Given the description of an element on the screen output the (x, y) to click on. 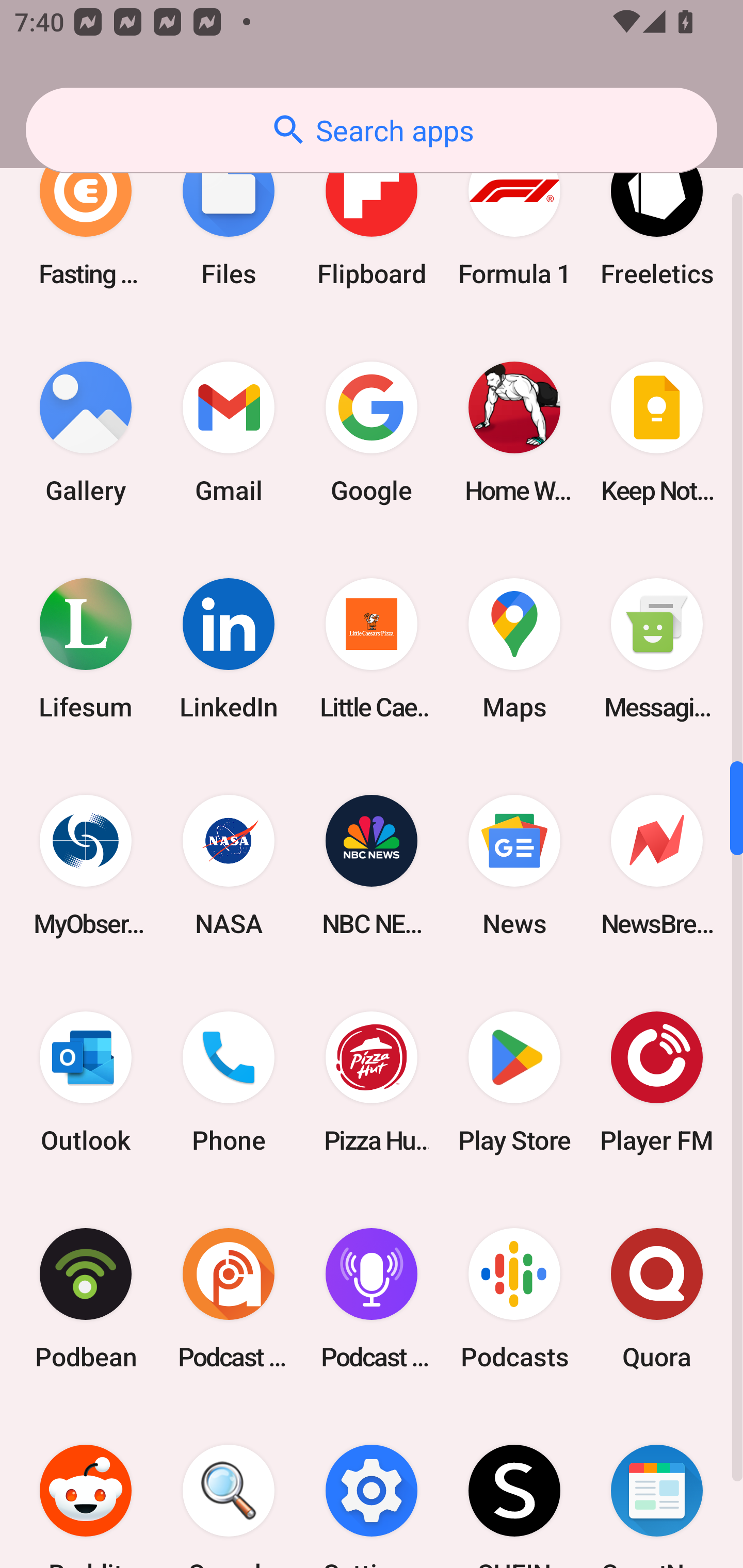
  Search apps (371, 130)
Fasting Coach (85, 215)
Files (228, 215)
Flipboard (371, 215)
Formula 1 (514, 215)
Freeletics (656, 215)
Gallery (85, 432)
Gmail (228, 432)
Google (371, 432)
Home Workout (514, 432)
Keep Notes (656, 432)
Lifesum (85, 648)
LinkedIn (228, 648)
Little Caesars Pizza (371, 648)
Maps (514, 648)
Messaging (656, 648)
MyObservatory (85, 865)
NASA (228, 865)
NBC NEWS (371, 865)
News (514, 865)
NewsBreak (656, 865)
Outlook (85, 1081)
Phone (228, 1081)
Pizza Hut HK & Macau (371, 1081)
Play Store (514, 1081)
Player FM (656, 1081)
Podbean (85, 1298)
Podcast Addict (228, 1298)
Podcast Player (371, 1298)
Podcasts (514, 1298)
Quora (656, 1298)
Reddit (85, 1487)
Search (228, 1487)
Settings (371, 1487)
SHEIN (514, 1487)
SmartNews (656, 1487)
